Given the description of an element on the screen output the (x, y) to click on. 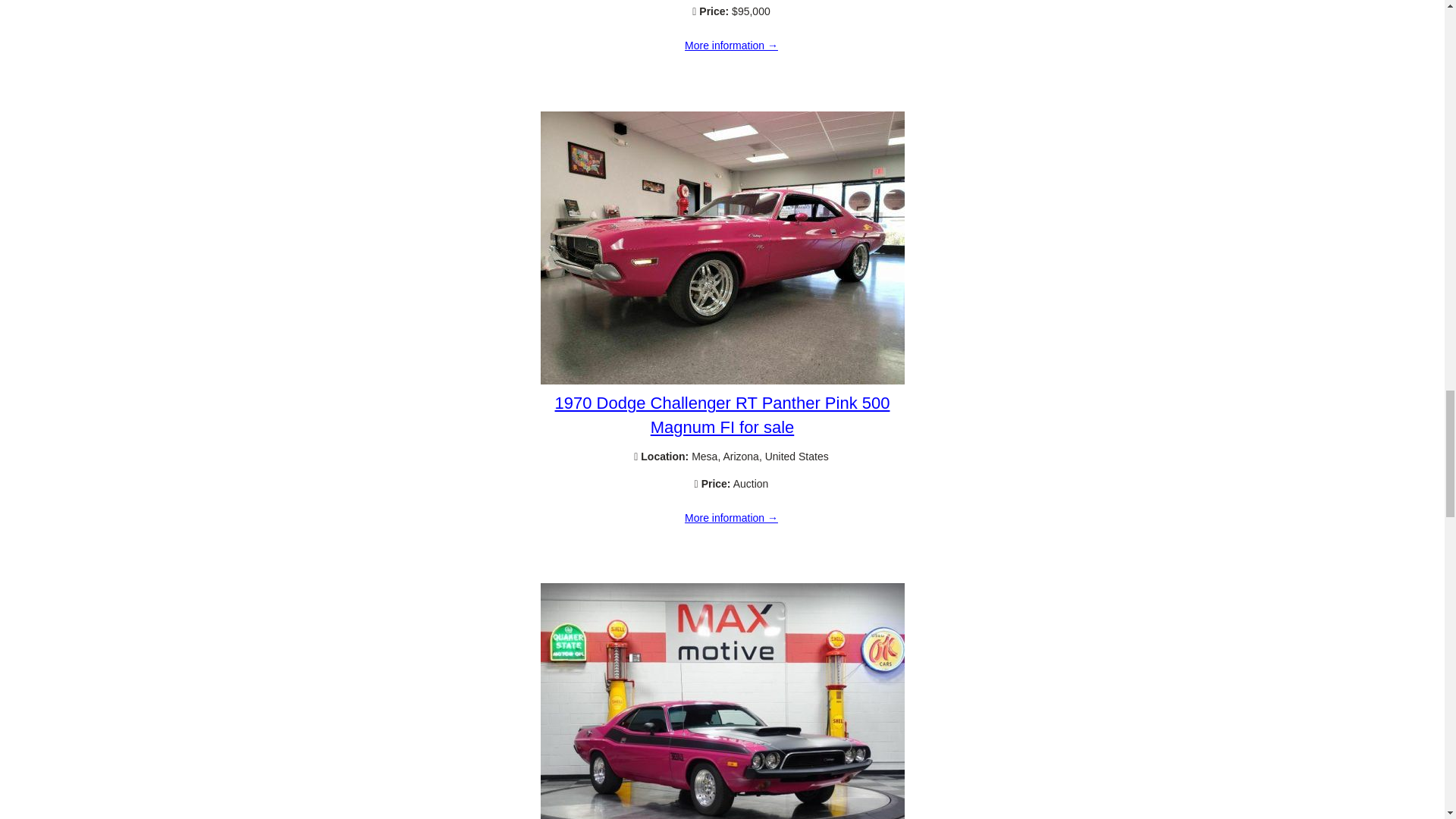
1970 Dodge Challenger RT Panther Pink 500 Magnum FI for sale (722, 380)
1970 Dodge Challenger RT Panther Pink 500 Magnum FI for sale (731, 518)
1970 Dodge Challenger RT Panther Pink 500 Magnum FI for sale (721, 414)
